Given the description of an element on the screen output the (x, y) to click on. 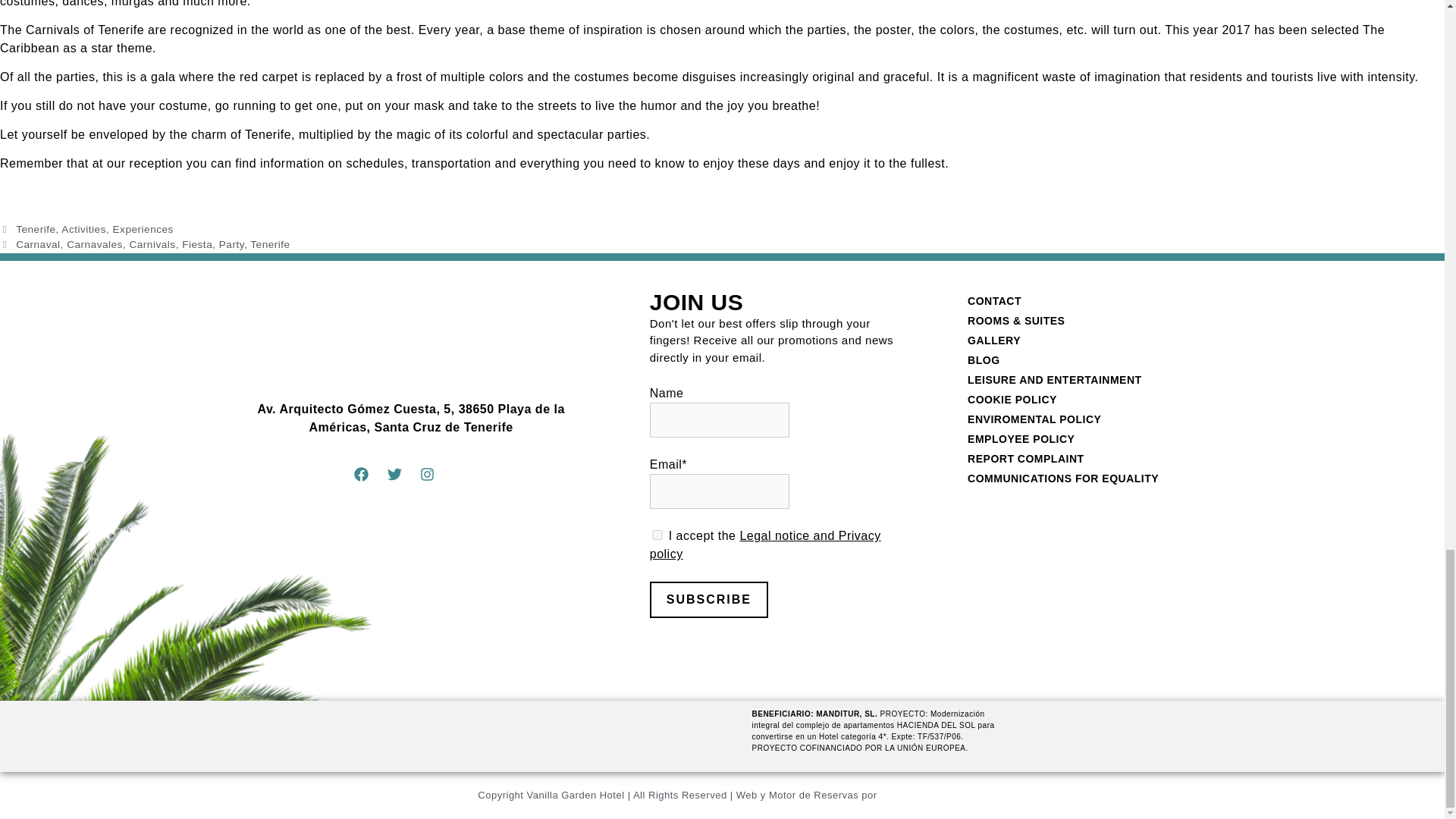
SUBSCRIBE (708, 599)
Activities (83, 229)
LEISURE AND ENTERTAINMENT (1098, 379)
Carnivals (151, 244)
CONTACT (1098, 301)
Carnavales (94, 244)
Carnaval (37, 244)
Tenerife (35, 229)
BLOG (1098, 360)
Tenerife (269, 244)
GALLERY (1098, 340)
SUBSCRIBE (708, 599)
Party (231, 244)
Legal notice and Privacy policy (764, 544)
Fiesta (197, 244)
